Given the description of an element on the screen output the (x, y) to click on. 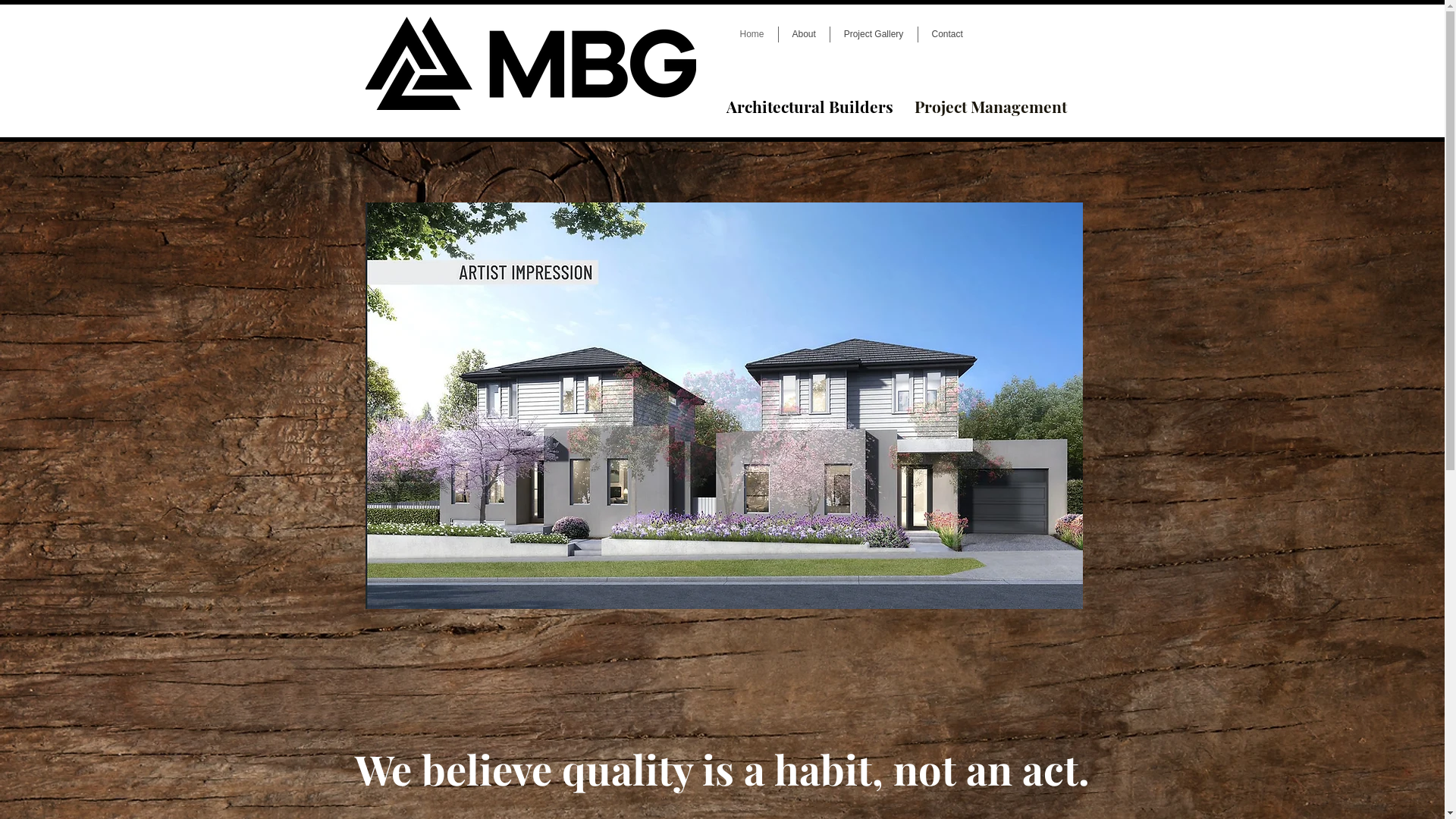
Home Element type: text (752, 34)
About Element type: text (803, 34)
Project Gallery Element type: text (872, 34)
Contact Element type: text (946, 34)
